Given the description of an element on the screen output the (x, y) to click on. 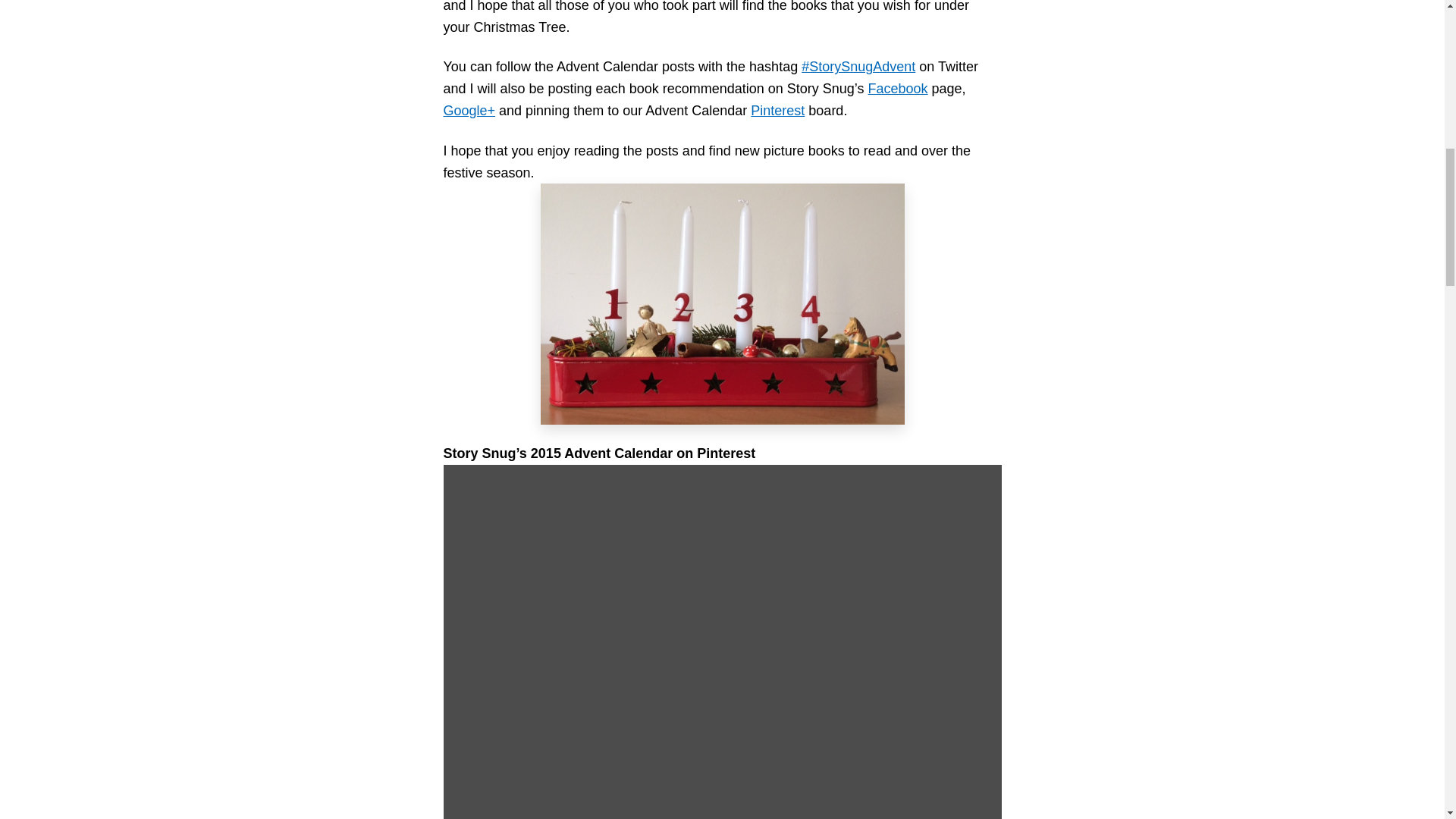
Pinterest (778, 110)
Facebook (897, 88)
